Given the description of an element on the screen output the (x, y) to click on. 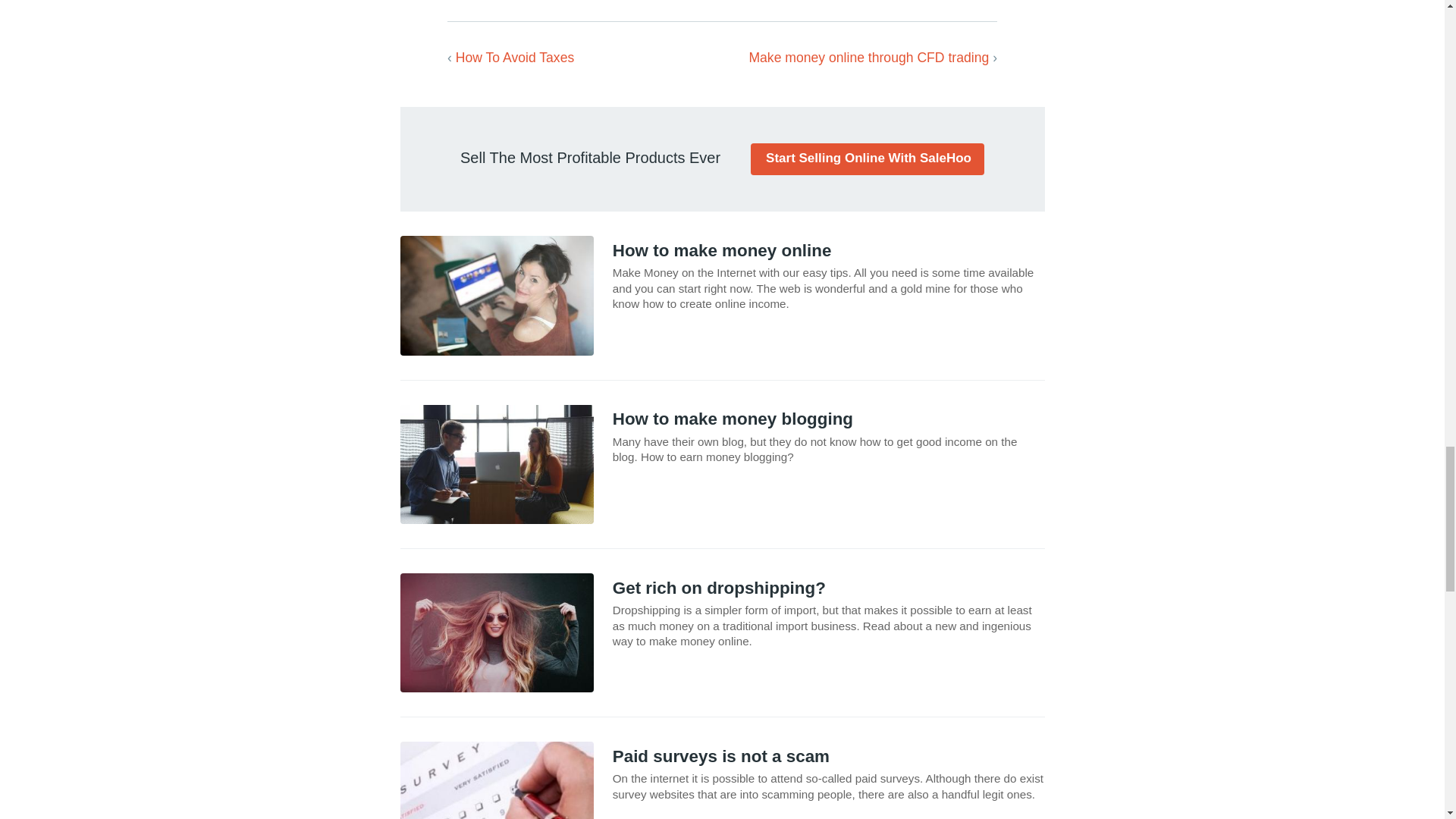
Make money online through CFD trading (868, 57)
Start Selling Online With SaleHoo (867, 159)
How To Avoid Taxes (515, 57)
